Given the description of an element on the screen output the (x, y) to click on. 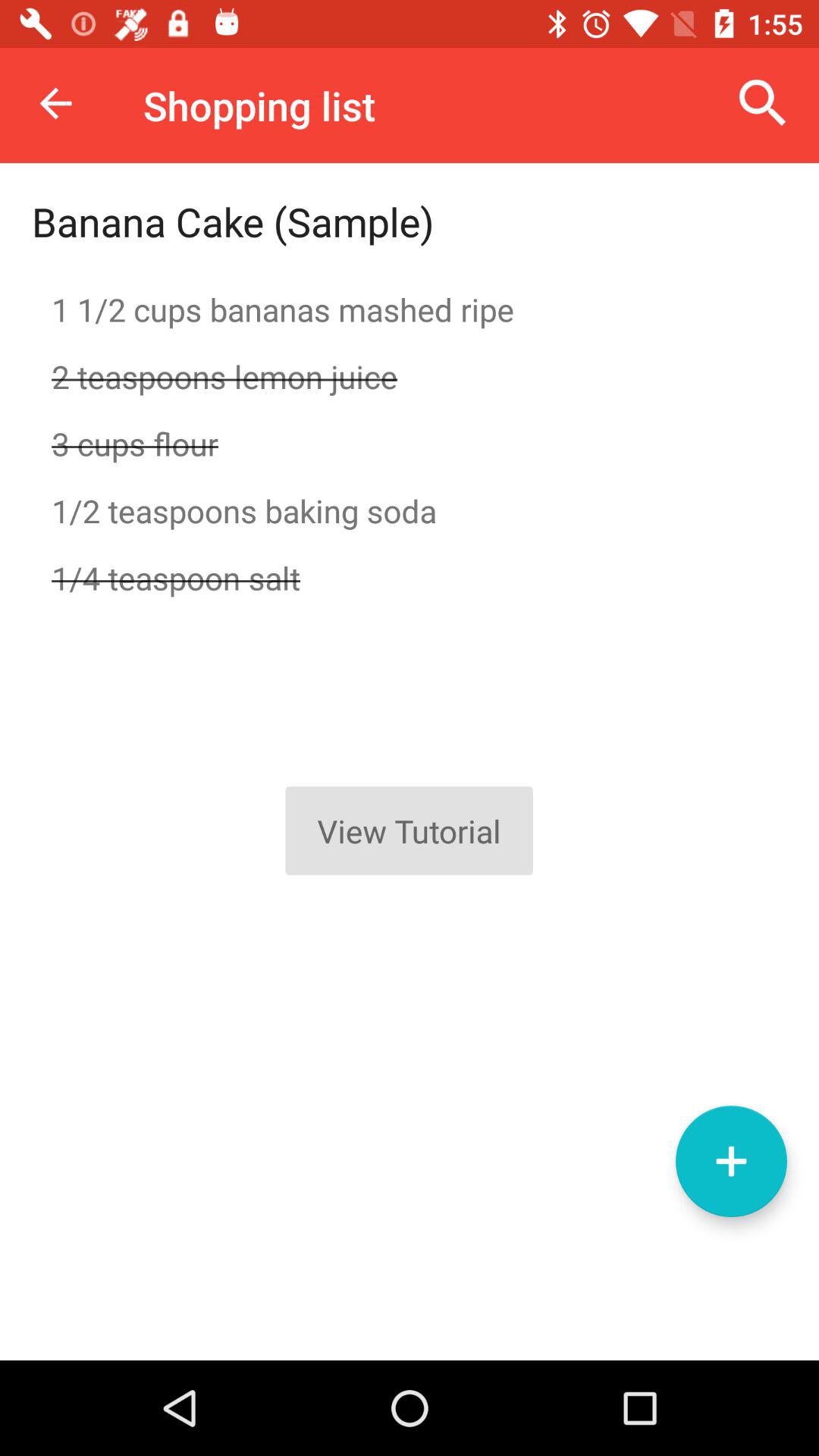
select 3 cups flour icon (409, 443)
